Given the description of an element on the screen output the (x, y) to click on. 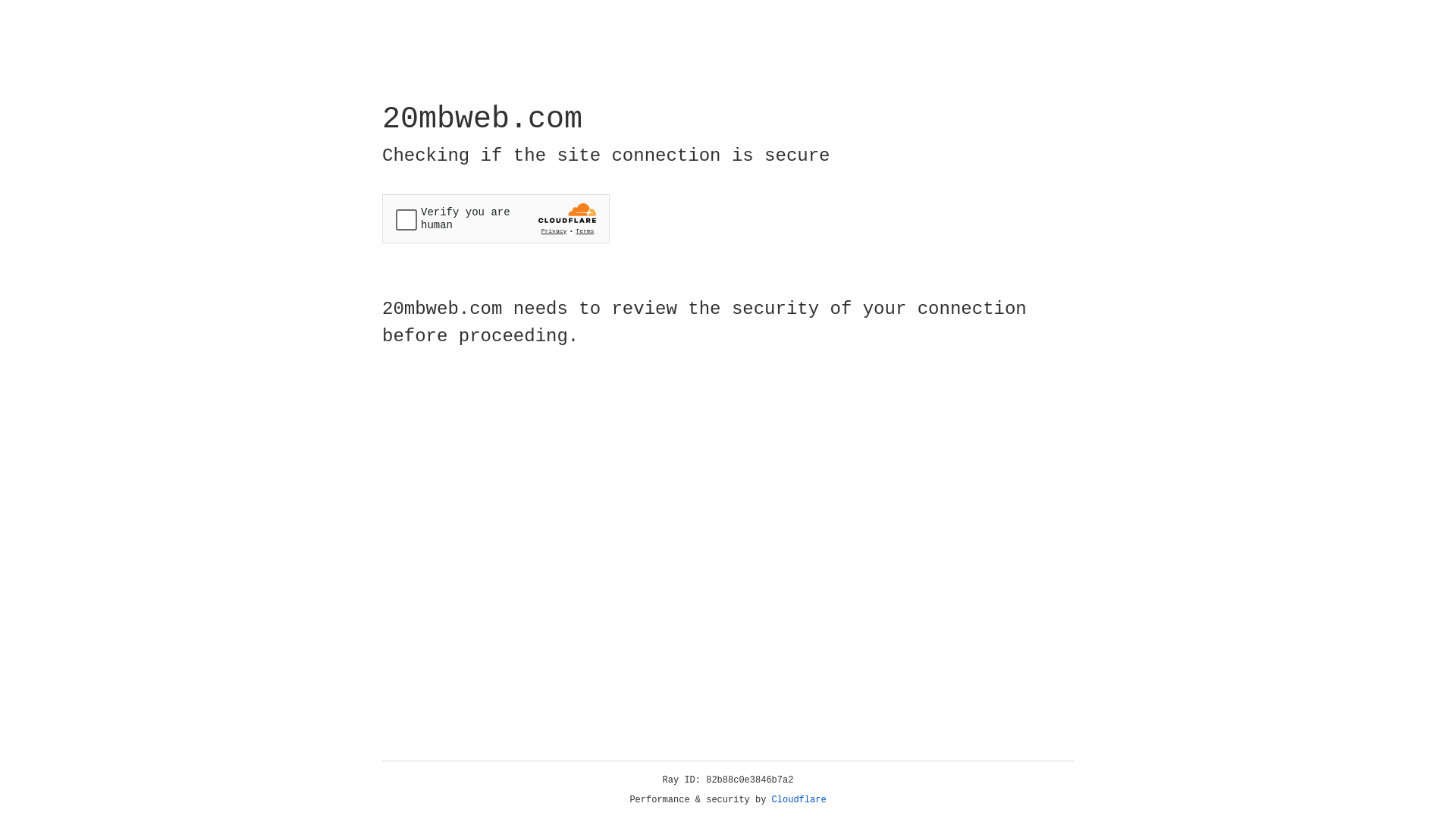
Widget containing a Cloudflare security challenge Element type: hover (495, 218)
Cloudflare Element type: text (798, 799)
